Given the description of an element on the screen output the (x, y) to click on. 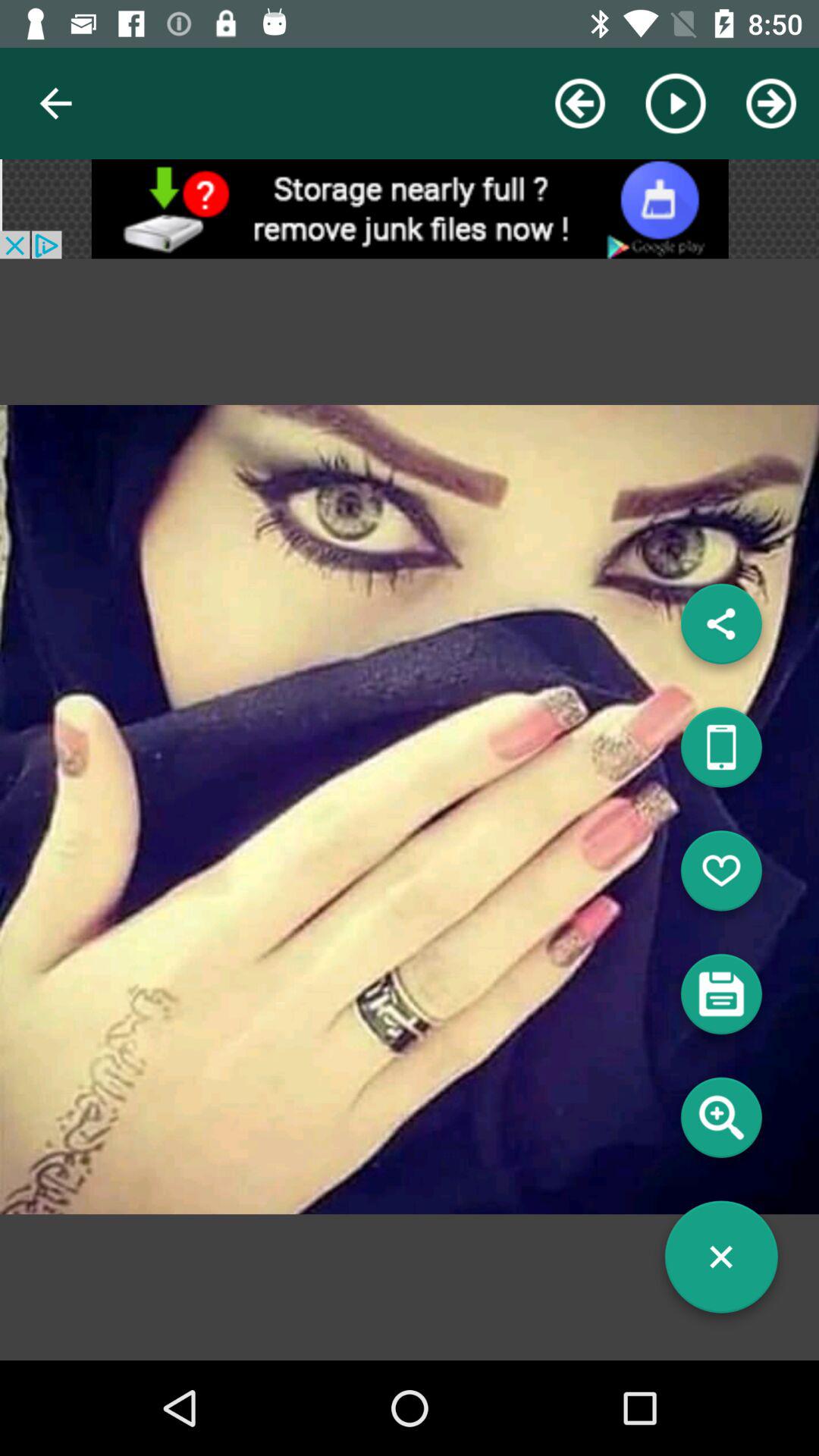
open advertisement (409, 208)
